Given the description of an element on the screen output the (x, y) to click on. 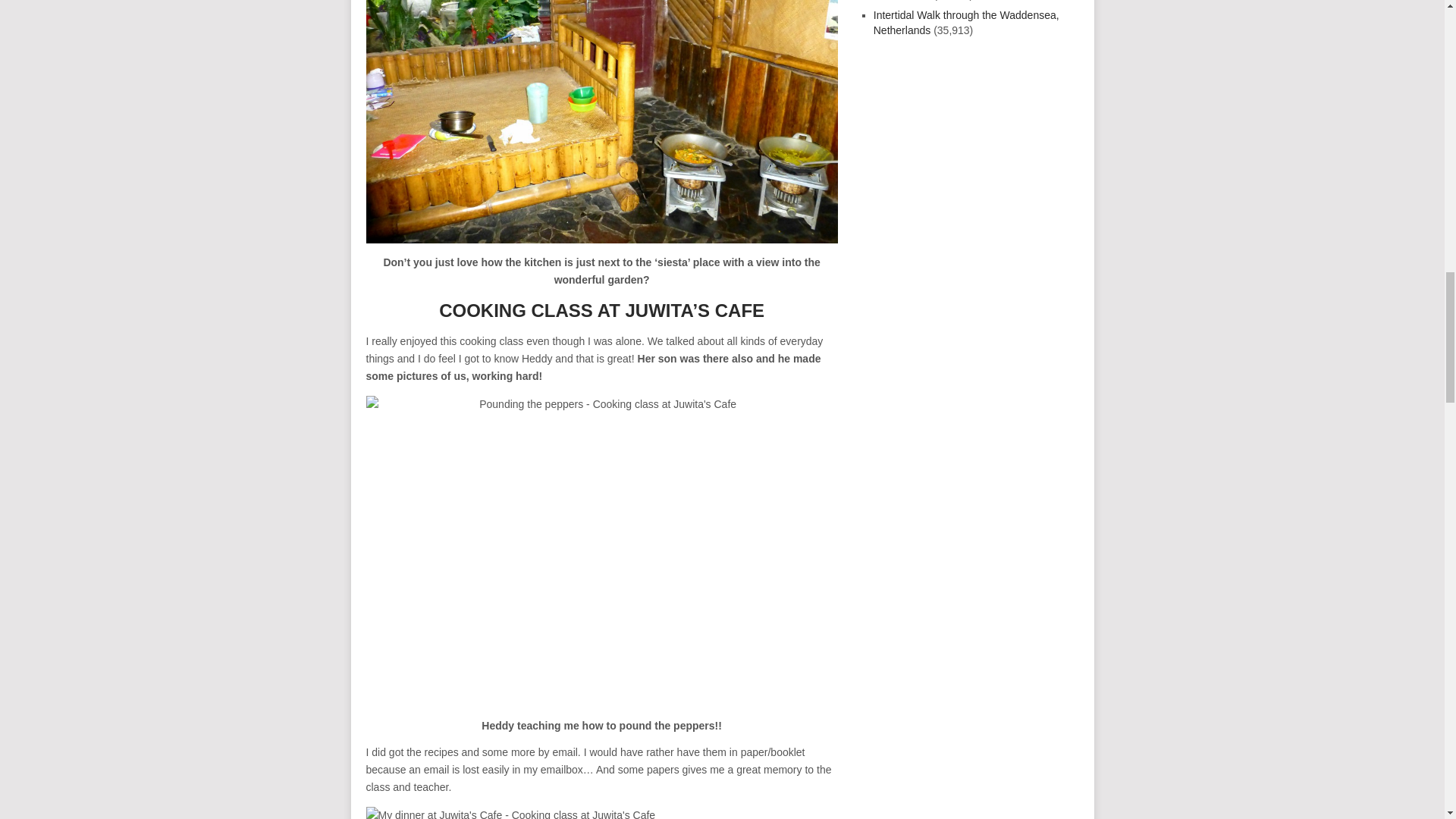
Cooking class at Juwita's Cafe (601, 121)
